Given the description of an element on the screen output the (x, y) to click on. 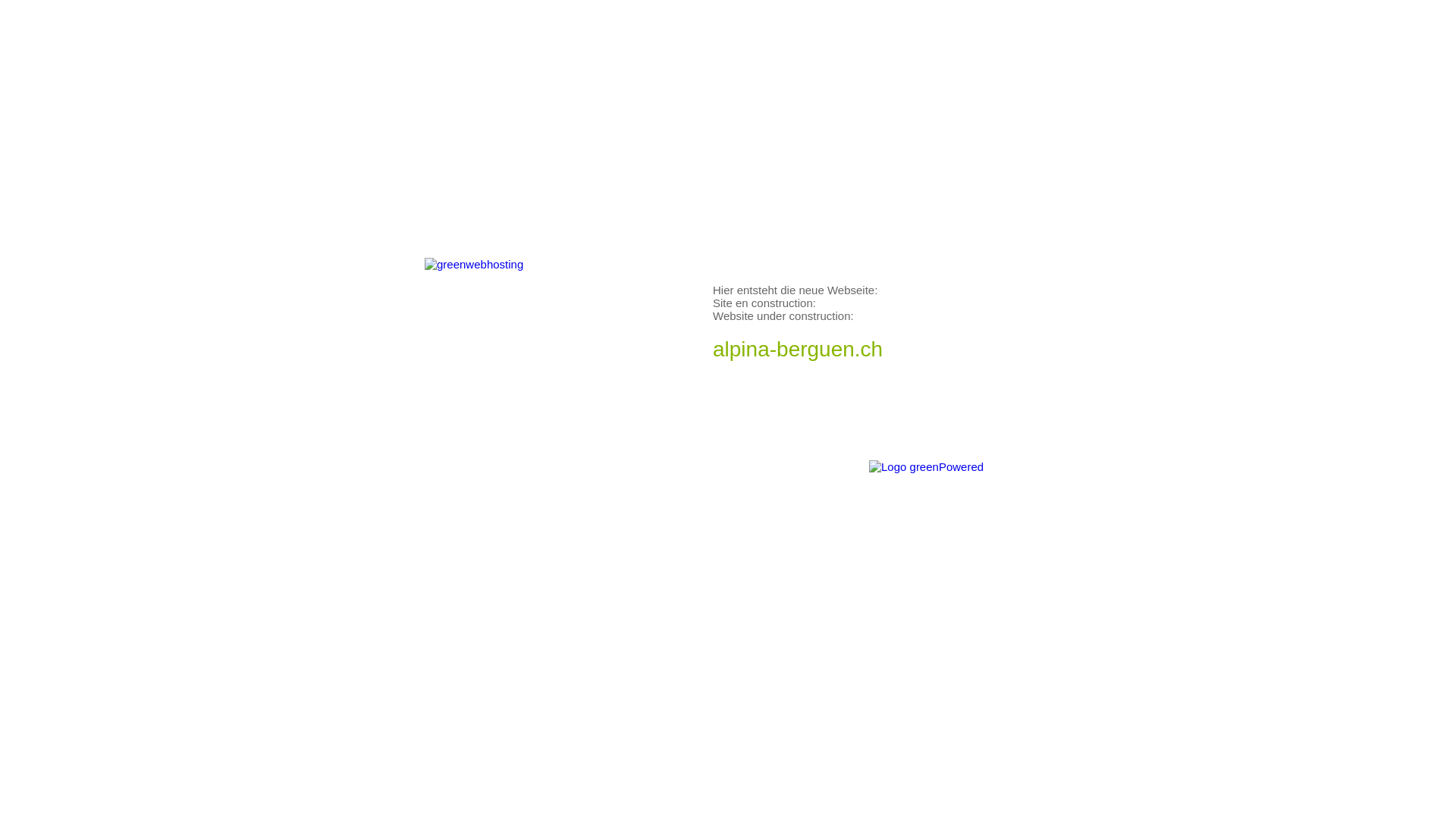
powered by greenWebhosting Element type: hover (995, 476)
powered by greenWebhosting Element type: hover (568, 356)
